Given the description of an element on the screen output the (x, y) to click on. 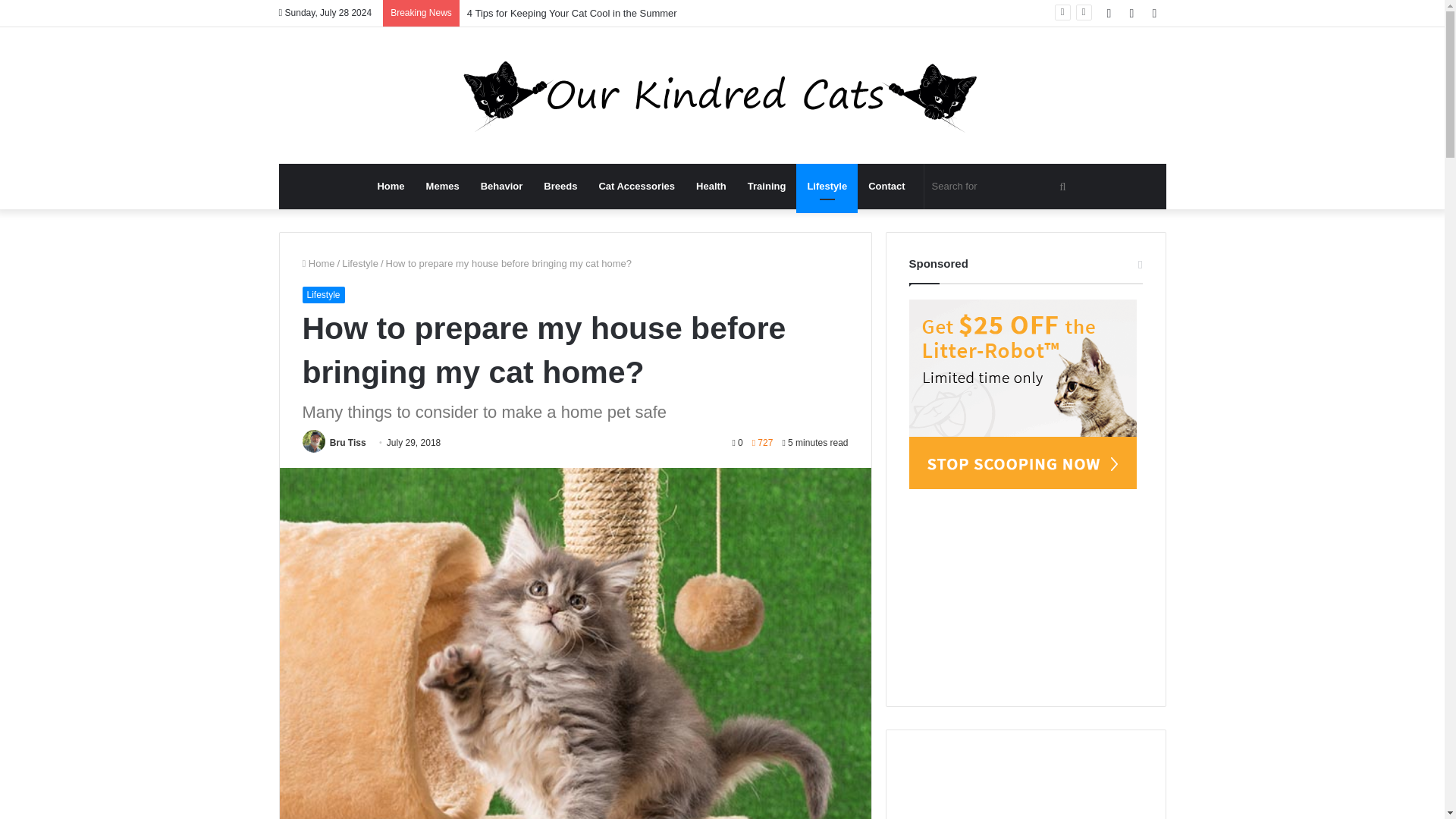
Health (710, 186)
Home (317, 263)
Our Kindred Cats (721, 95)
Bru Tiss (348, 442)
4 Tips for Keeping Your Cat Cool in the Summer (572, 12)
Training (766, 186)
Breeds (560, 186)
Cat Accessories (636, 186)
Home (390, 186)
Bru Tiss (348, 442)
Lifestyle (360, 263)
Memes (442, 186)
Behavior (502, 186)
Search for (1001, 186)
Lifestyle (322, 294)
